Given the description of an element on the screen output the (x, y) to click on. 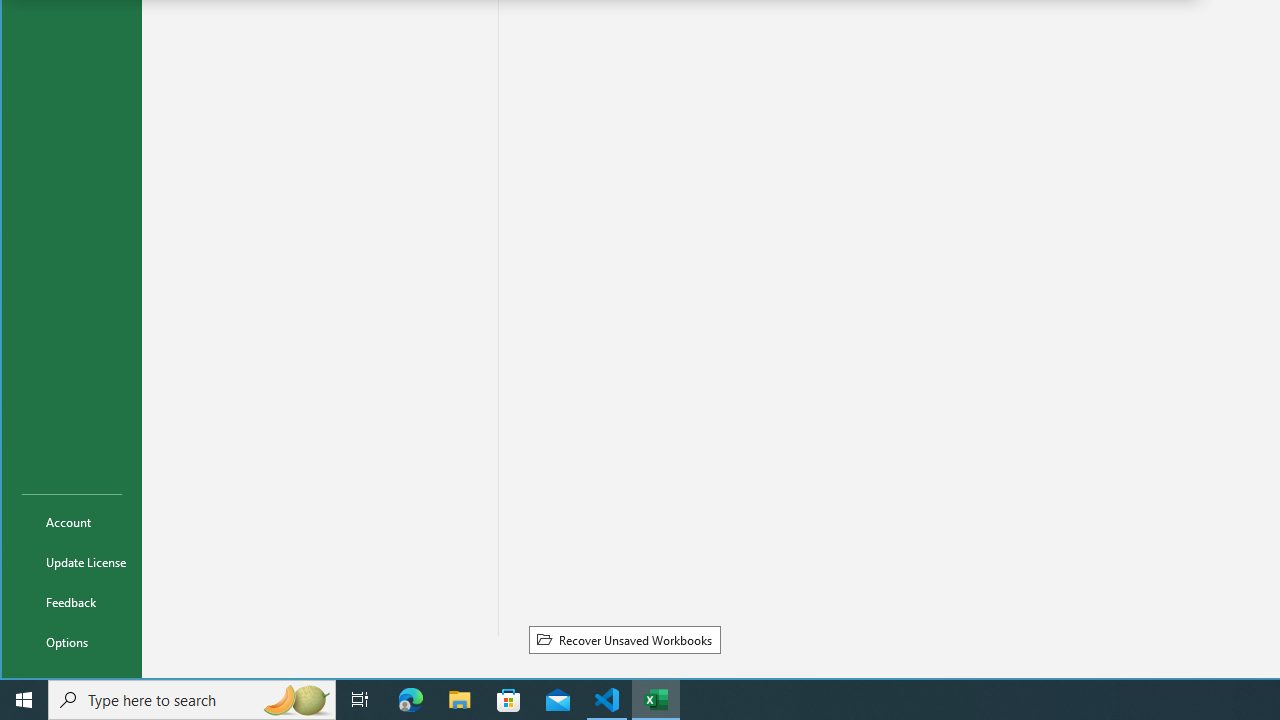
Account (72, 521)
Update License (72, 561)
Type here to search (191, 699)
Feedback (72, 601)
Microsoft Edge (411, 699)
Search highlights icon opens search home window (295, 699)
Microsoft Store (509, 699)
Task View (359, 699)
Visual Studio Code - 1 running window (607, 699)
Excel - 1 running window (656, 699)
File Explorer (460, 699)
Start (24, 699)
Recover Unsaved Workbooks (624, 639)
Options (72, 641)
